Given the description of an element on the screen output the (x, y) to click on. 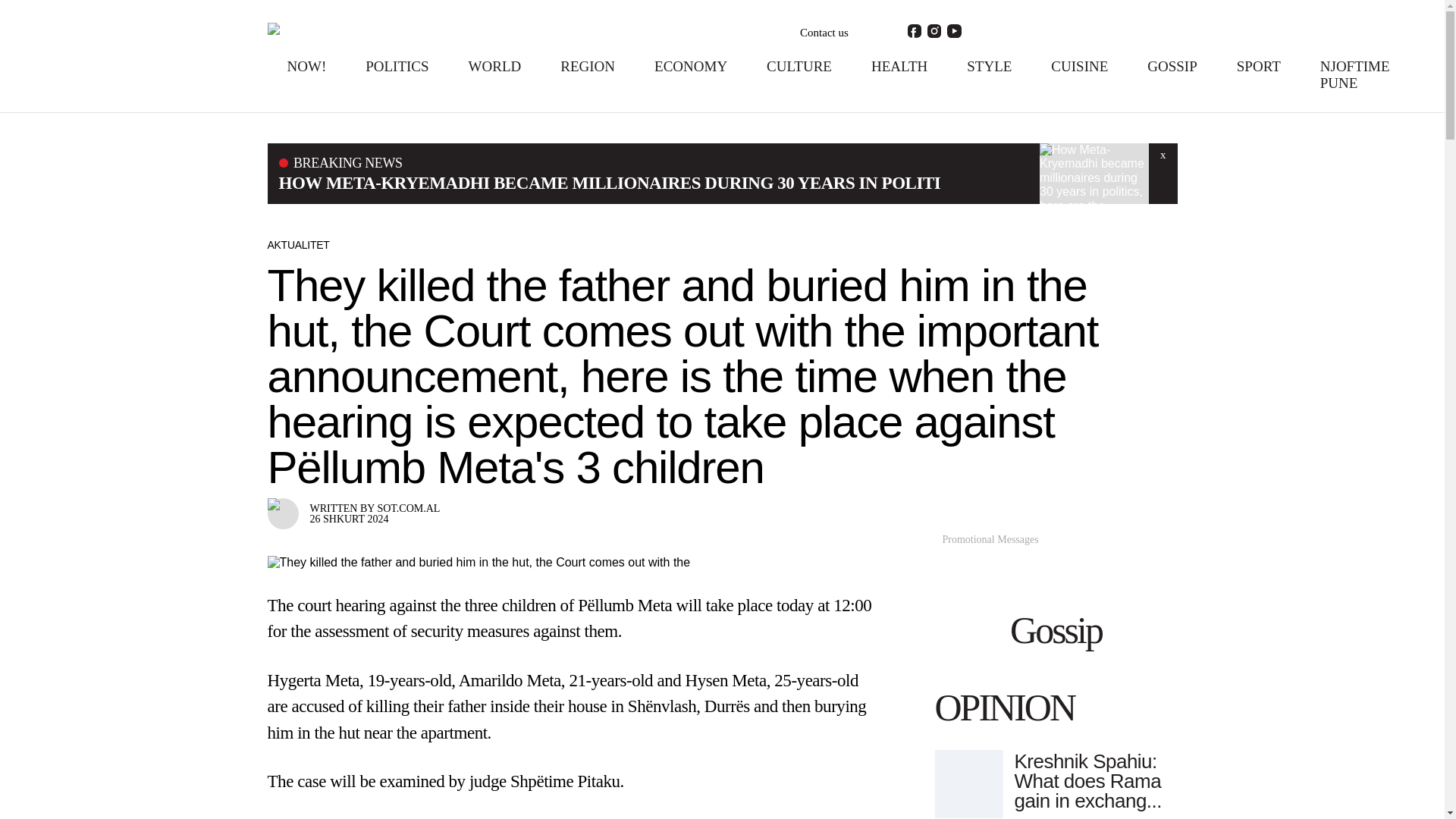
REGION (587, 66)
GOSSIP (1171, 66)
NJOFTIME PUNE (1355, 74)
POLITICS (396, 66)
STYLE (988, 66)
CULTURE (799, 66)
ECONOMY (689, 66)
SPORT (1258, 66)
CUISINE (1079, 66)
Contact us (823, 32)
